Given the description of an element on the screen output the (x, y) to click on. 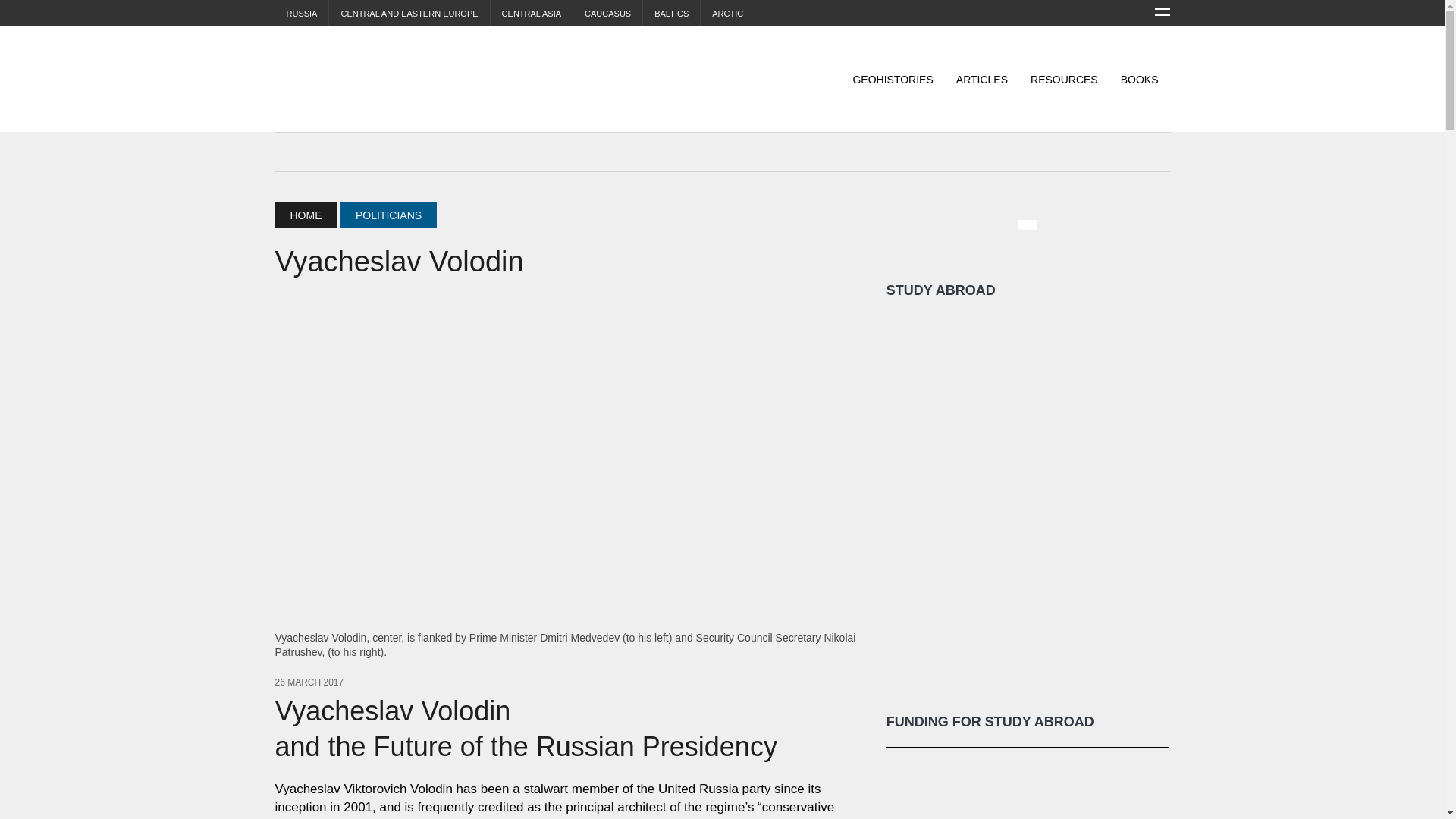
CAUCASUS (607, 13)
GeoHistory (416, 78)
ARCTIC (727, 13)
CENTRAL AND EASTERN EUROPE (409, 13)
BALTICS (671, 13)
RUSSIA (302, 13)
GEOHISTORIES (892, 79)
CENTRAL ASIA (531, 13)
